Given the description of an element on the screen output the (x, y) to click on. 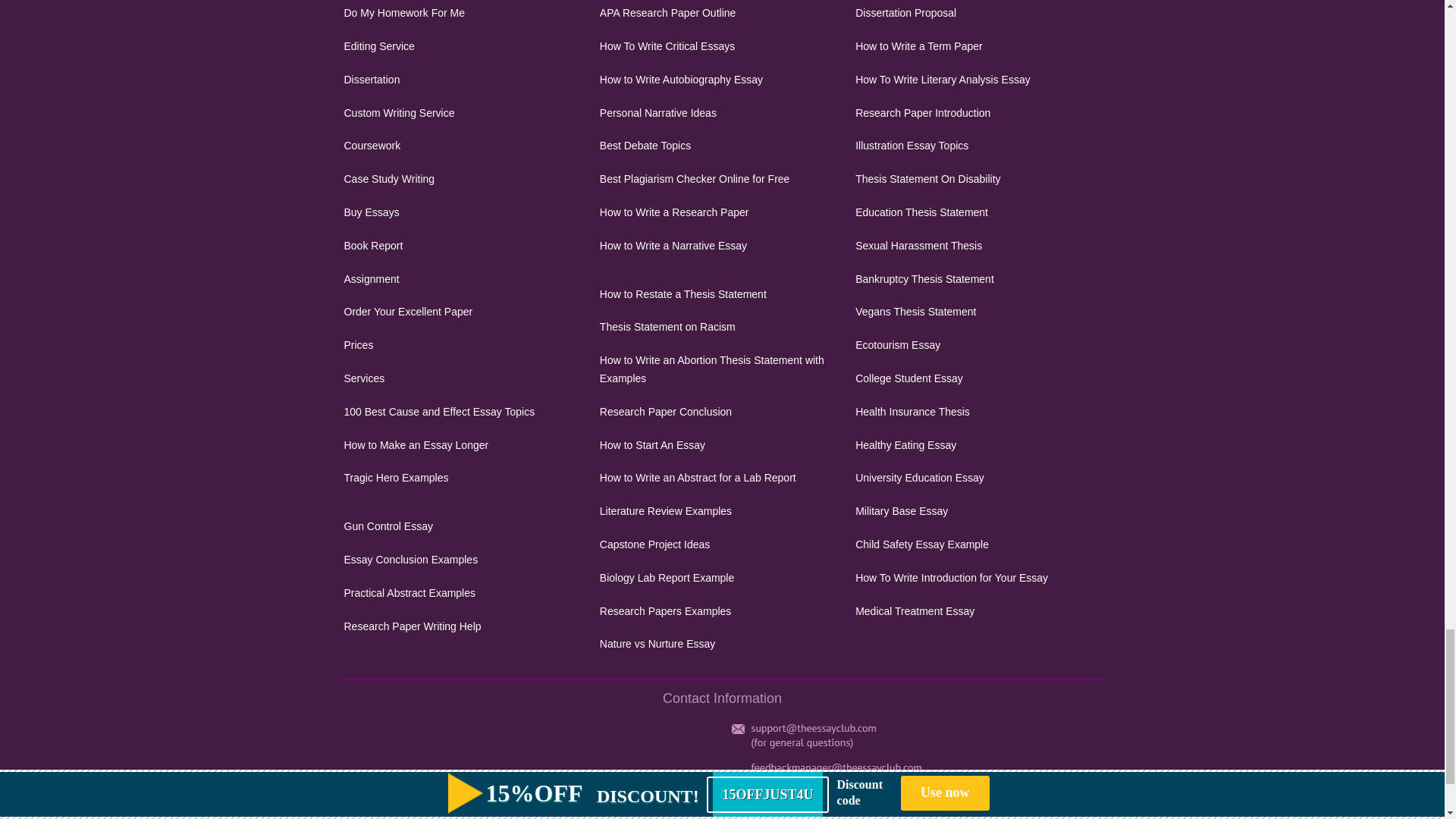
Dissertation (466, 80)
Custom Writing Service (466, 113)
Gun Control Essay (466, 526)
Case Study Writing (466, 179)
Services (466, 379)
Practical Abstract Examples (466, 593)
Research Paper Writing Help (466, 627)
Order Your Excellent Paper (466, 312)
Tragic Hero Examples (466, 478)
Assignment (466, 280)
